Given the description of an element on the screen output the (x, y) to click on. 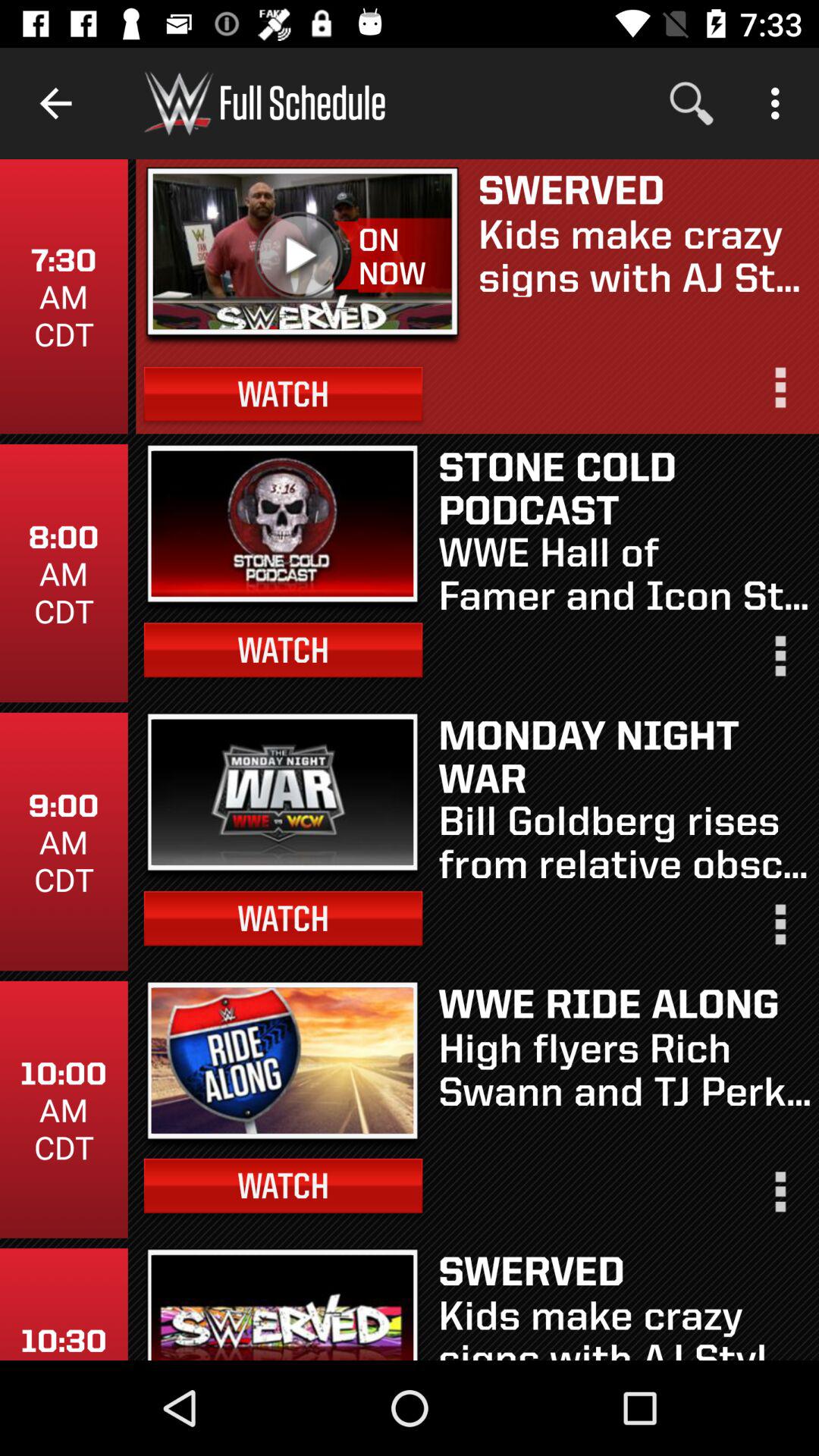
bring up options (779, 662)
